Given the description of an element on the screen output the (x, y) to click on. 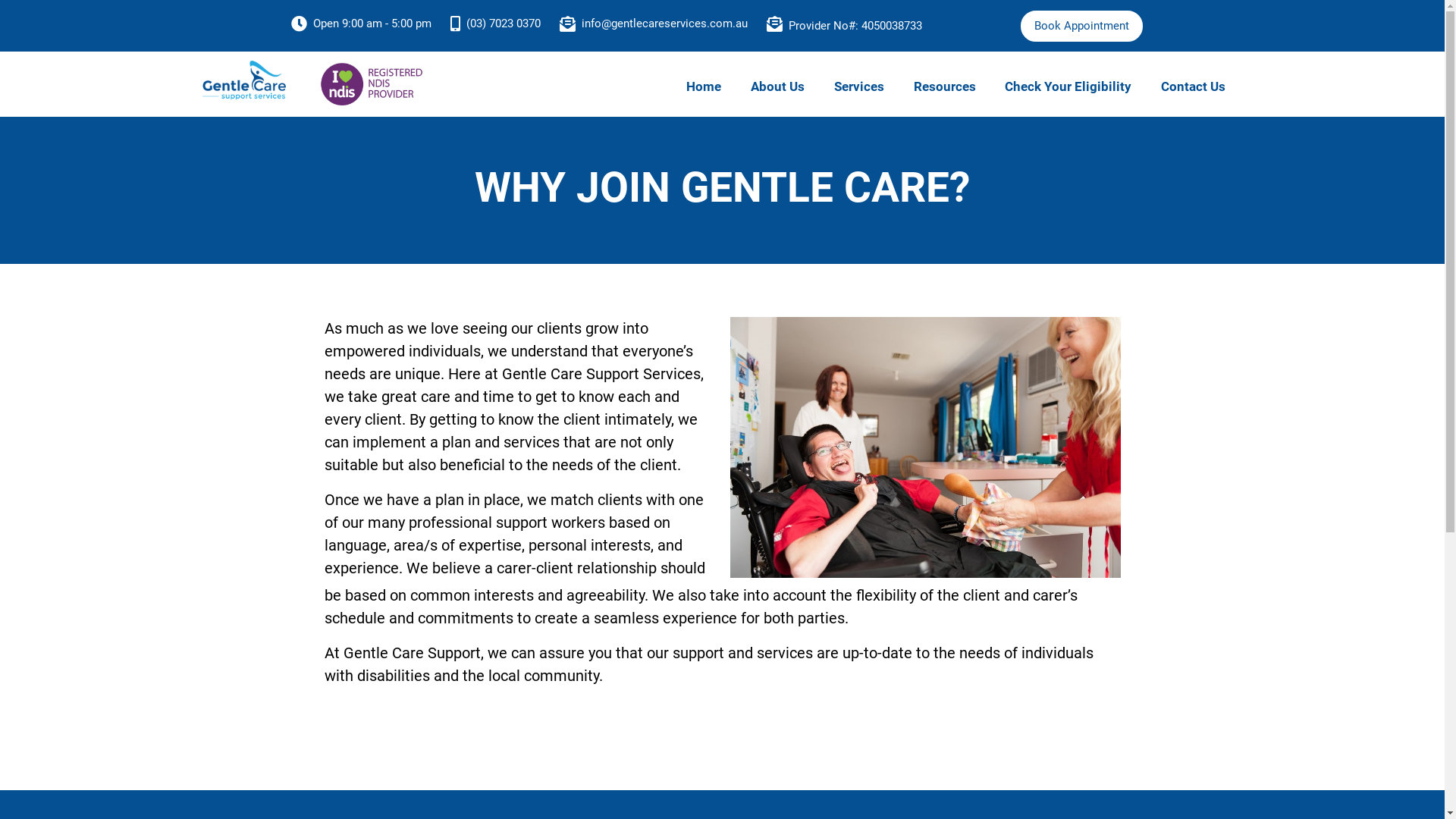
info@gentlecareservices.com.au Element type: text (663, 25)
Resources Element type: text (944, 86)
Contact Us Element type: text (1193, 86)
Book Appointment Element type: text (1081, 25)
Home Element type: text (703, 86)
About Us Element type: text (777, 86)
Check Your Eligibility Element type: text (1067, 86)
Services Element type: text (859, 86)
Book Appointment Element type: text (1081, 25)
